Given the description of an element on the screen output the (x, y) to click on. 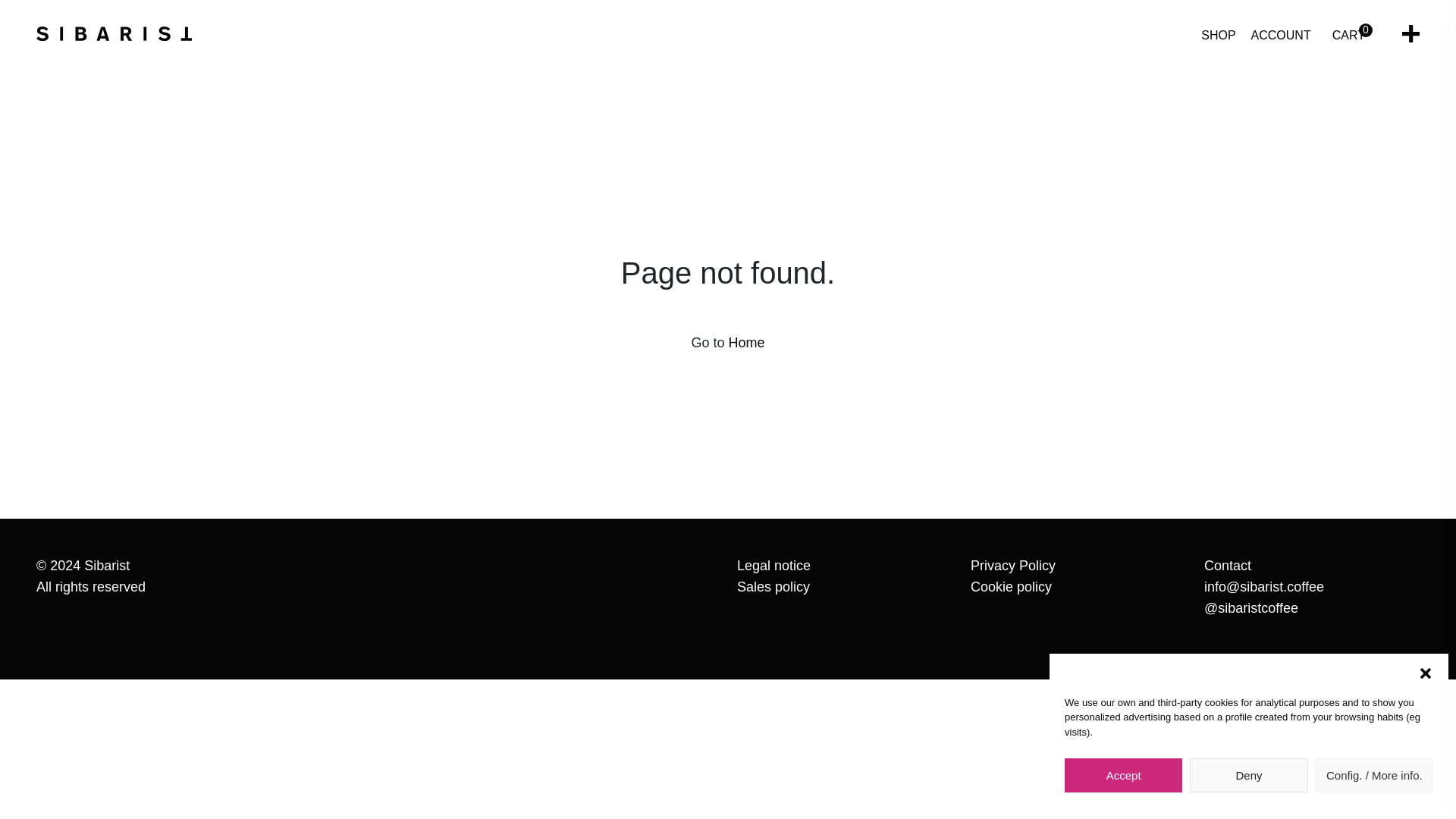
Home (746, 342)
SHOP (1217, 34)
ACCOUNT (1280, 34)
CART (1348, 35)
